Given the description of an element on the screen output the (x, y) to click on. 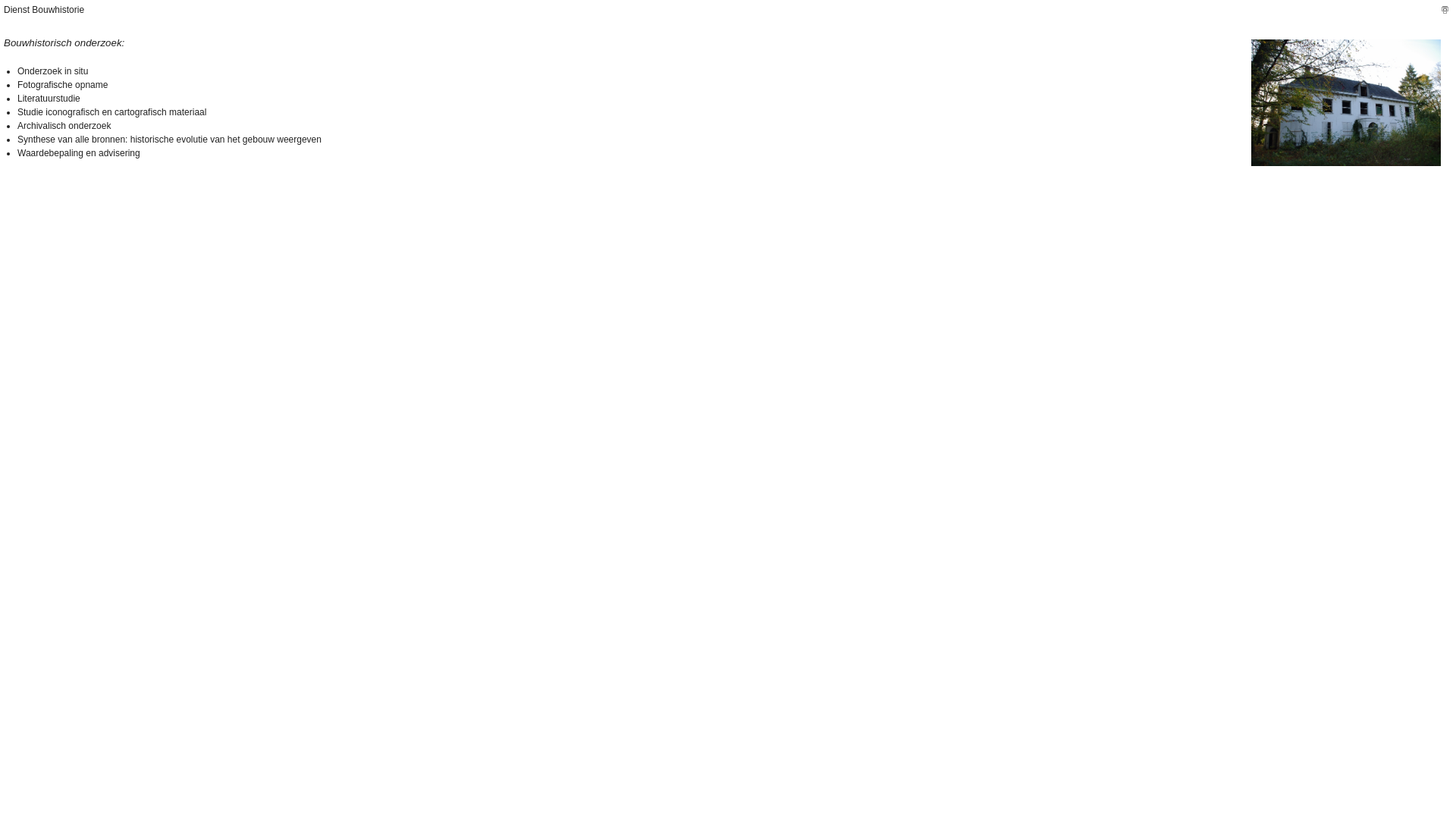
Archeologienota Element type: hover (1345, 102)
